Given the description of an element on the screen output the (x, y) to click on. 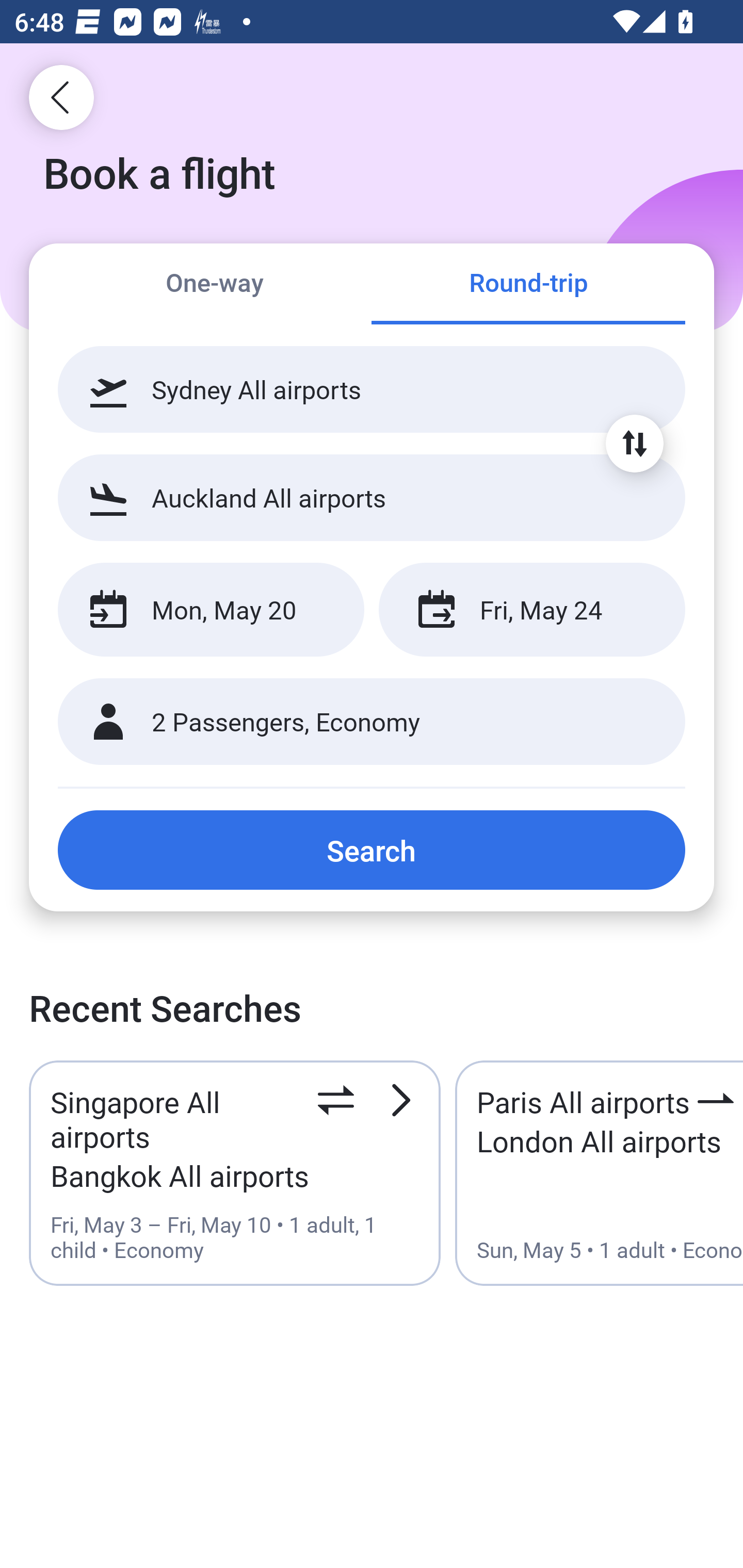
One-way (214, 284)
Sydney All airports (371, 389)
Auckland All airports (371, 497)
Mon, May 20 (210, 609)
Fri, May 24 (531, 609)
2 Passengers, Economy (371, 721)
Search (371, 849)
